Given the description of an element on the screen output the (x, y) to click on. 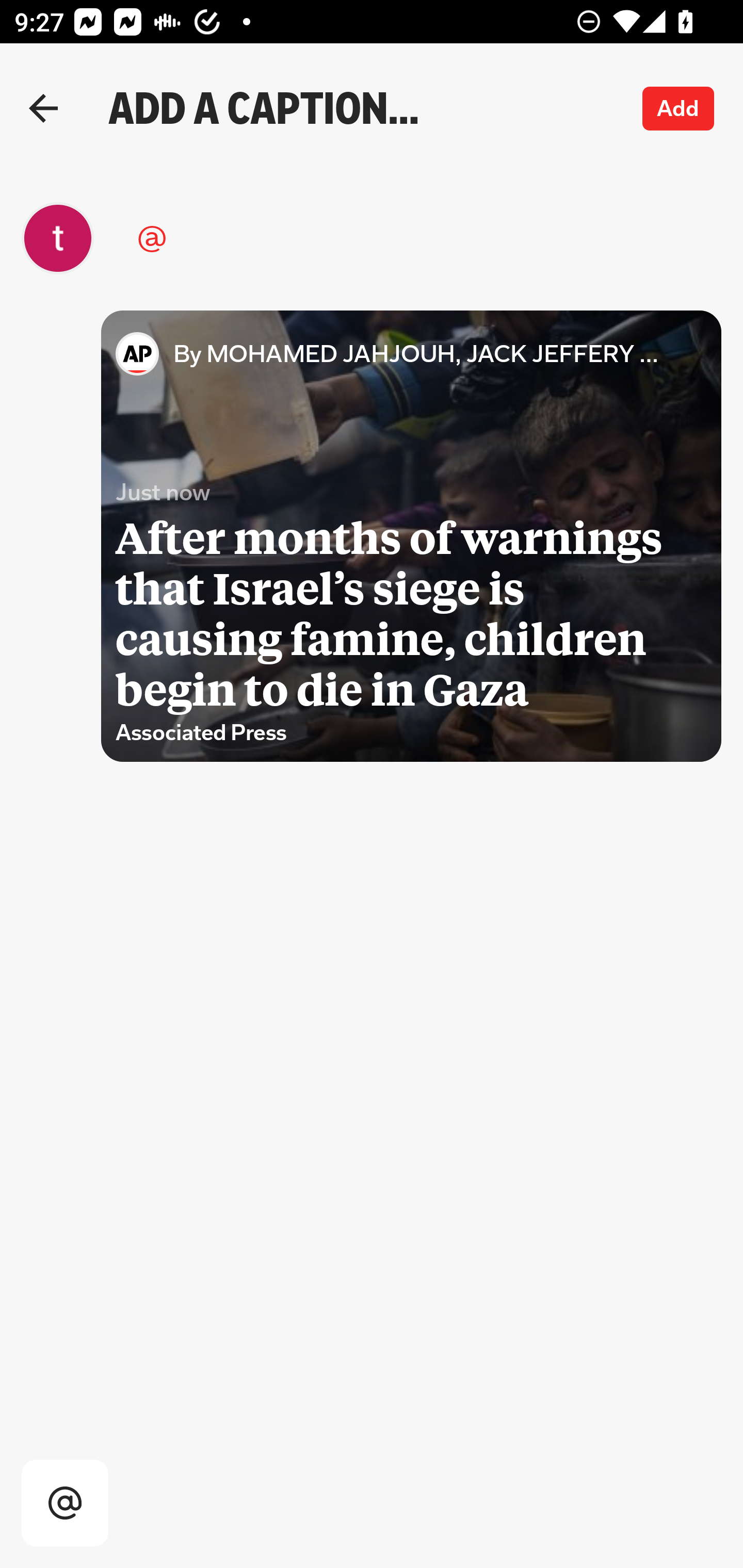
Add (678, 108)
@ (360, 238)
